Given the description of an element on the screen output the (x, y) to click on. 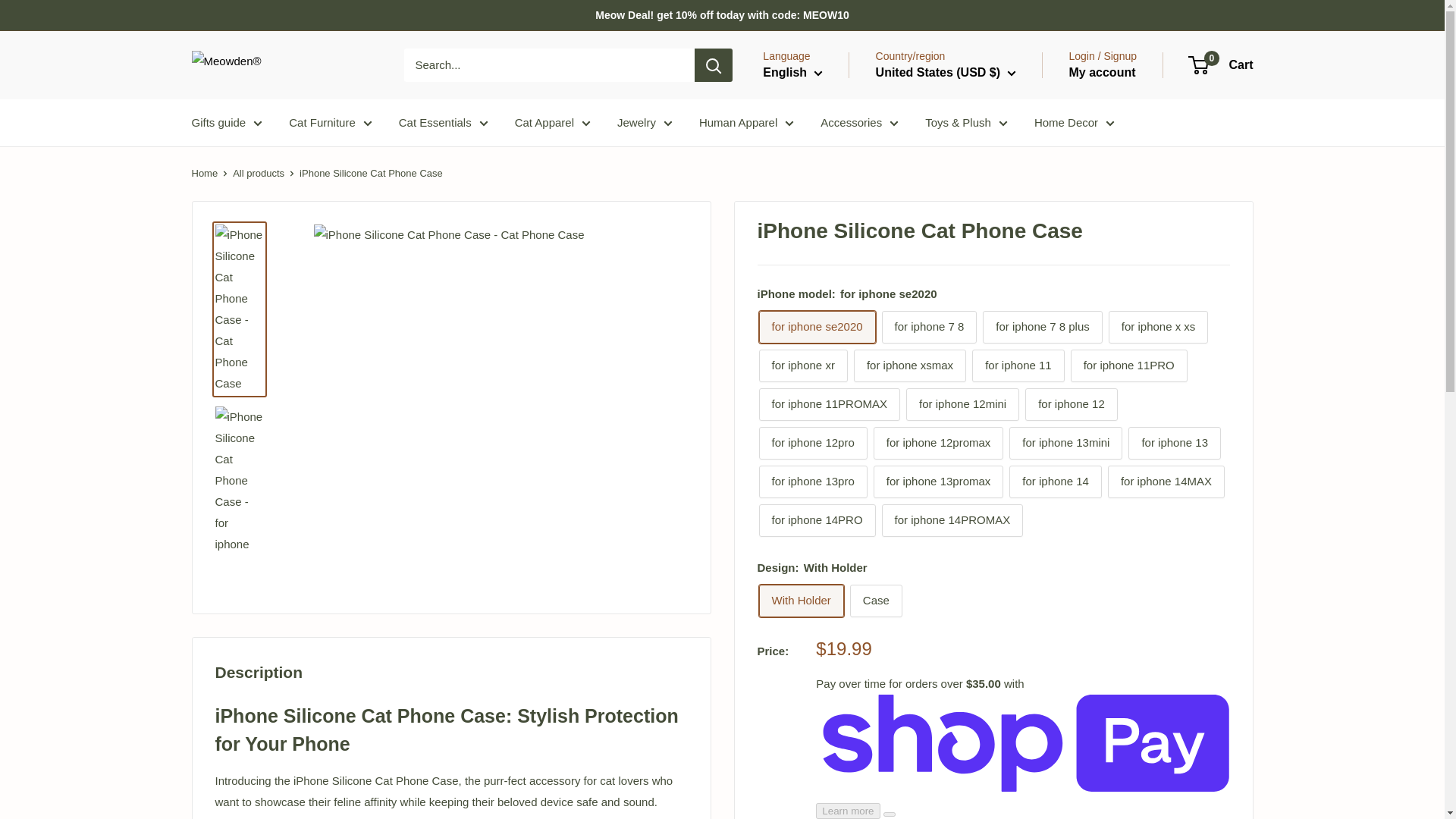
for iphone 11PRO (1129, 365)
for iphone 13mini (1065, 442)
for iphone 13pro (812, 481)
for iphone 14 (1055, 481)
for iphone 11 (1018, 365)
for iphone 14MAX (1166, 481)
for iphone 12pro (812, 442)
for iphone 11PROMAX (828, 404)
for iphone se2020 (816, 327)
for iphone 13 (1174, 442)
for iphone xr (802, 365)
for iphone x xs (1158, 327)
for iphone 7 8 (929, 327)
for iphone 13promax (938, 481)
for iphone 12 (1071, 404)
